Given the description of an element on the screen output the (x, y) to click on. 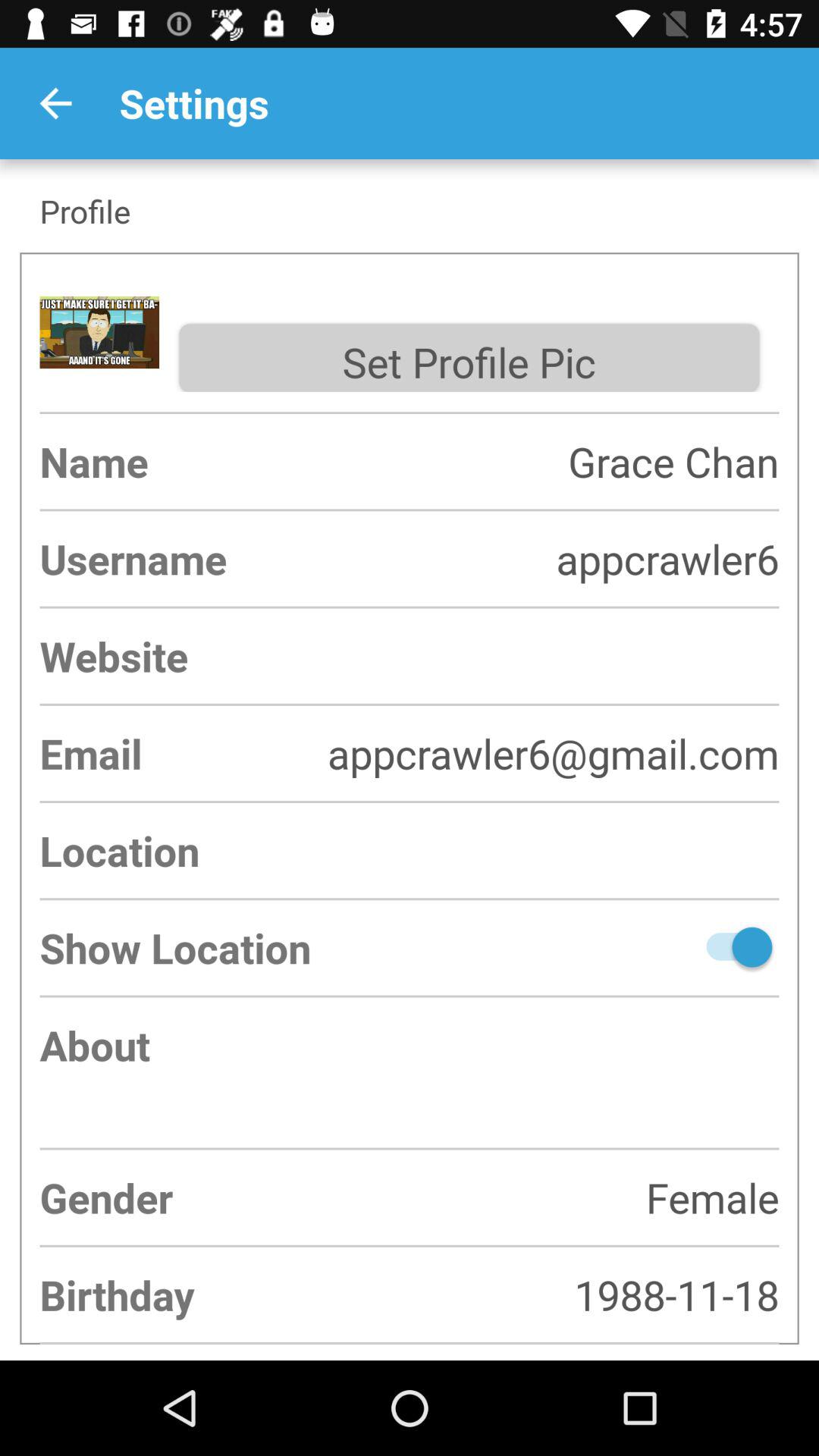
choose app to the left of the settings icon (55, 103)
